Given the description of an element on the screen output the (x, y) to click on. 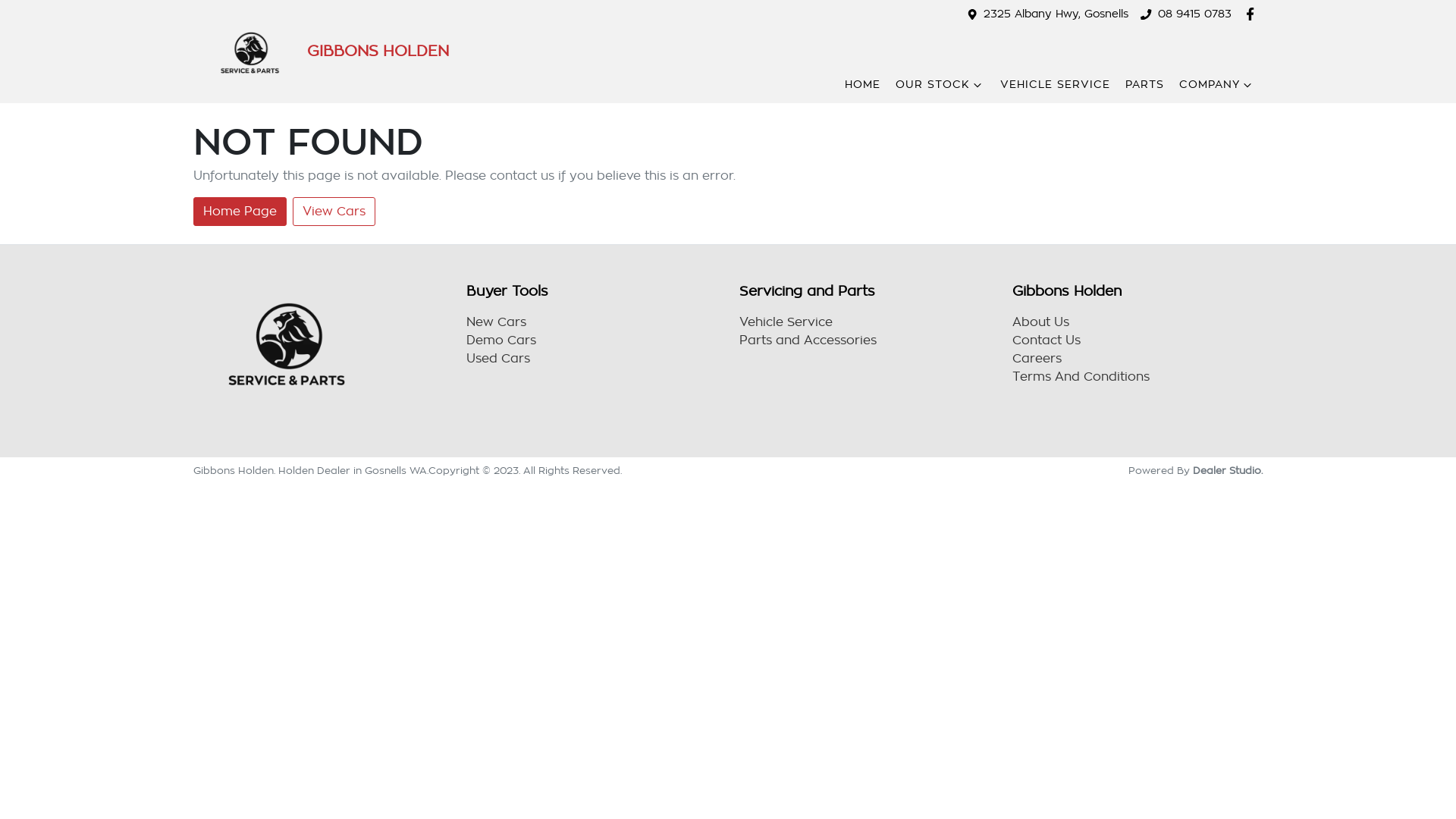
Parts and Accessories Element type: text (807, 340)
HOME Element type: text (862, 84)
Contact Us Element type: text (1046, 340)
OUR STOCK Element type: text (940, 84)
08 9415 0783 Element type: text (1194, 13)
Demo Cars Element type: text (501, 340)
New Cars Element type: text (496, 322)
GIBBONS HOLDEN Element type: text (320, 51)
VEHICLE SERVICE Element type: text (1055, 84)
COMPANY Element type: text (1216, 84)
PARTS Element type: text (1144, 84)
Careers Element type: text (1036, 358)
Used Cars Element type: text (498, 358)
View Cars Element type: text (333, 211)
Home Page Element type: text (239, 211)
About Us Element type: text (1040, 322)
Dealer Studio. Element type: text (1227, 470)
Terms And Conditions Element type: text (1080, 376)
Vehicle Service Element type: text (785, 322)
2325 Albany Hwy, Gosnells Element type: text (1055, 13)
